Given the description of an element on the screen output the (x, y) to click on. 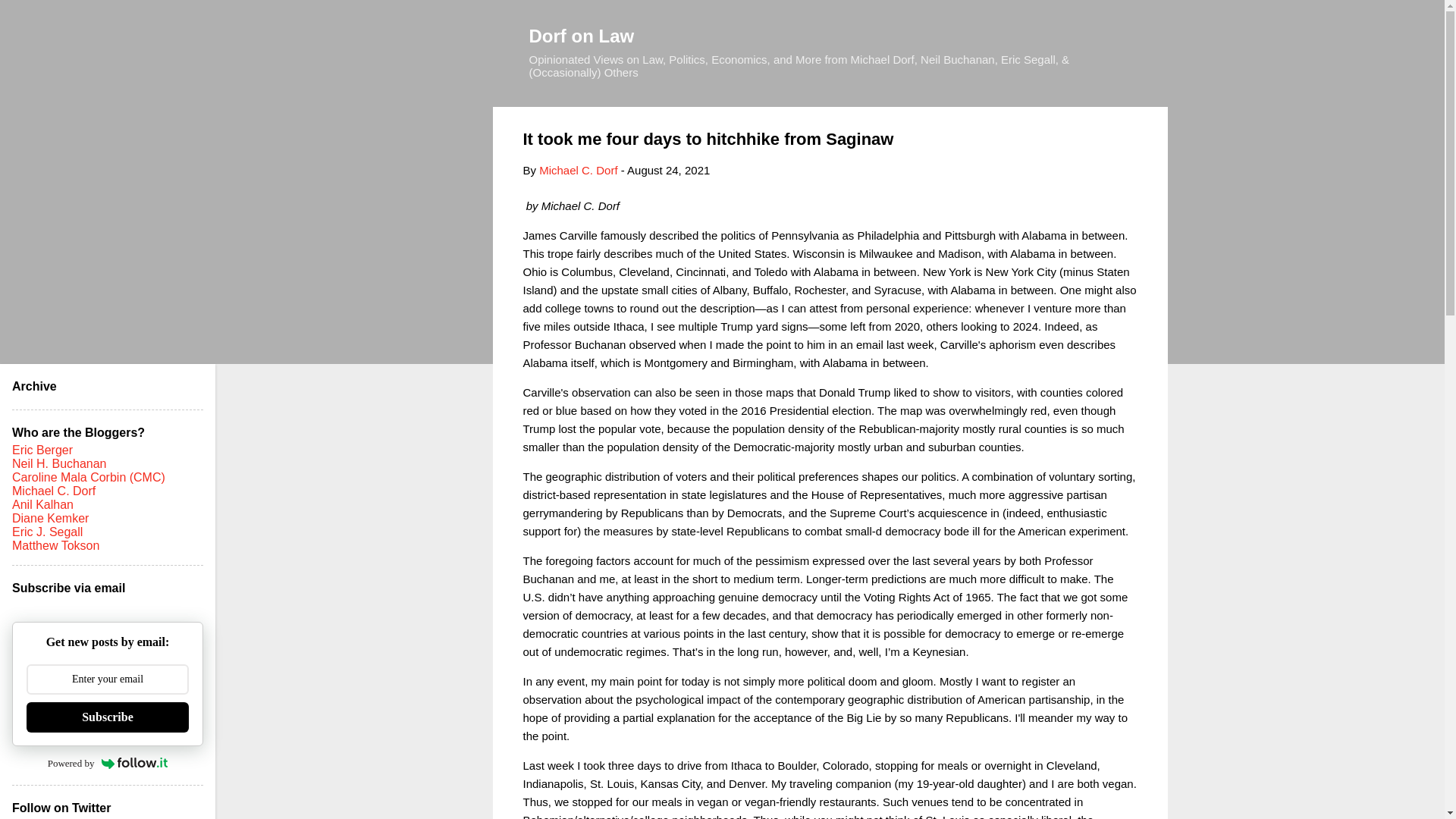
Search (29, 18)
author profile (577, 169)
permanent link (668, 169)
August 24, 2021 (668, 169)
Michael C. Dorf (577, 169)
Dorf on Law (581, 35)
